Given the description of an element on the screen output the (x, y) to click on. 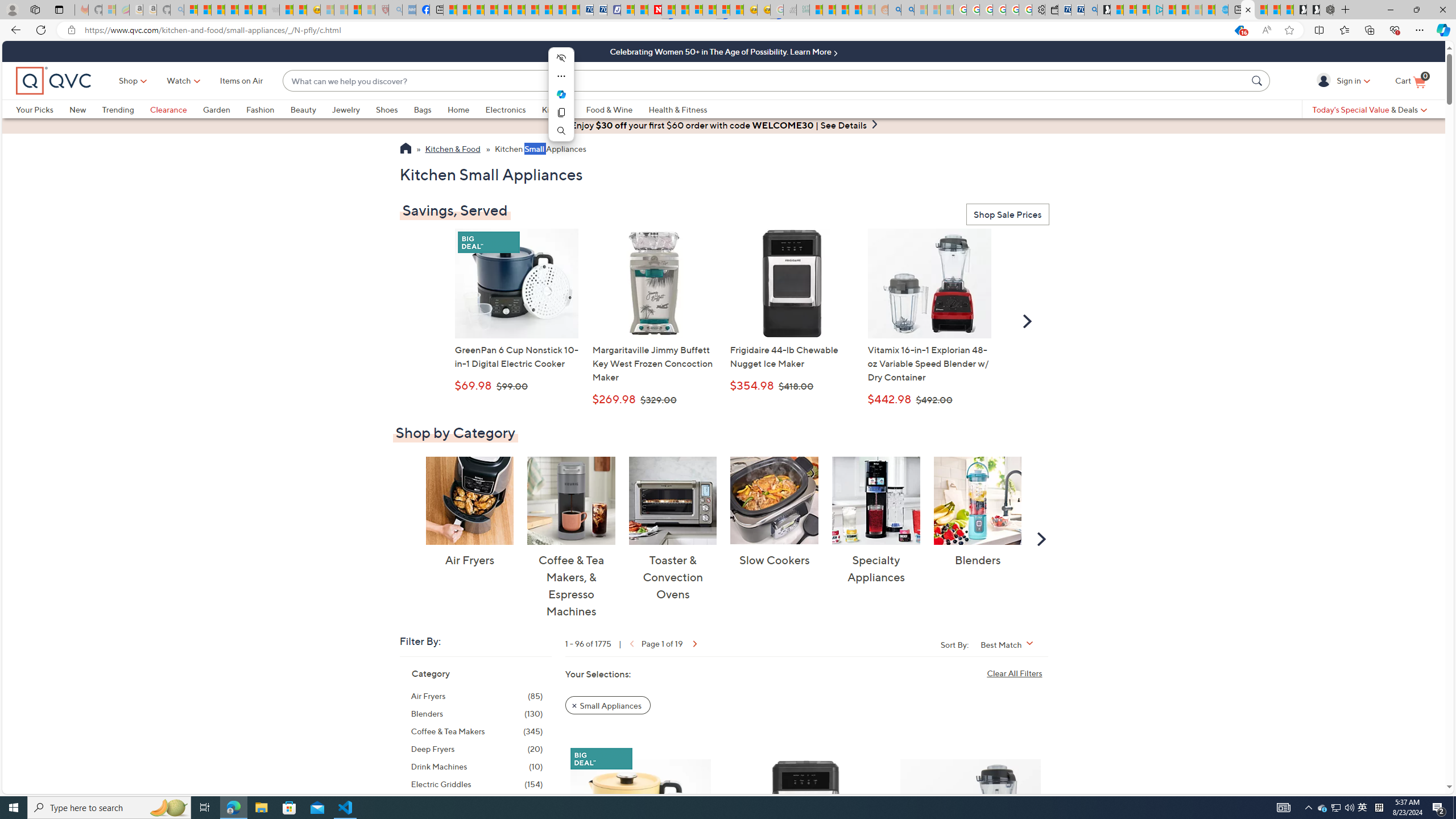
Drink Machines, 10 items (476, 766)
Blenders (977, 500)
Small Appliances (607, 704)
Play Free Online Games | Games from Microsoft Start (1312, 9)
12 Popular Science Lies that Must be Corrected - Sleeping (368, 9)
Climate Damage Becomes Too Severe To Reverse (490, 9)
Bags (421, 109)
Scroll Right (1041, 537)
Blenders Blenders (977, 512)
